Given the description of an element on the screen output the (x, y) to click on. 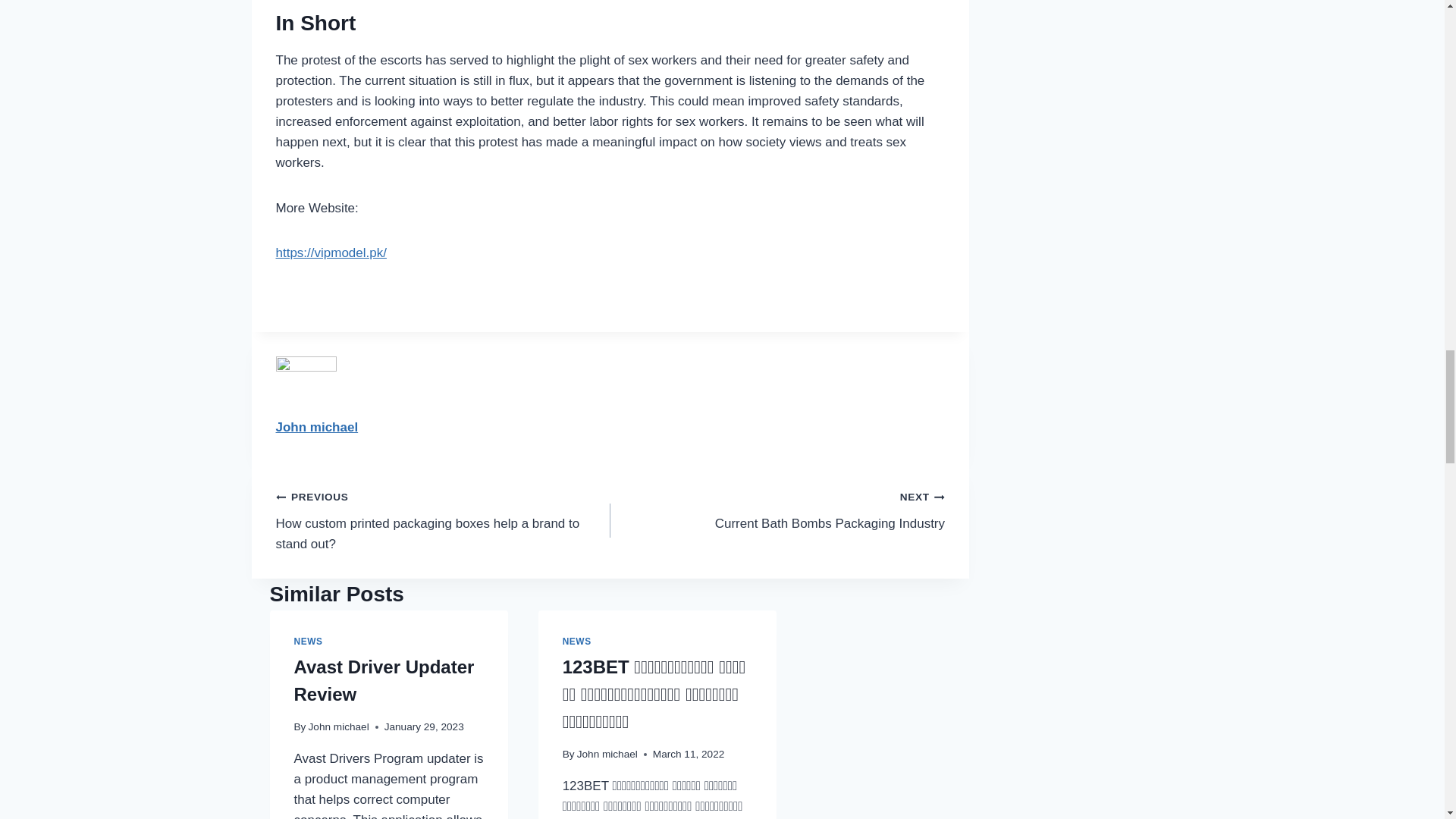
NEWS (576, 641)
Avast Driver Updater Review (384, 680)
NEWS (777, 509)
John michael (308, 641)
John michael (317, 427)
Posts by John michael (606, 754)
John michael (317, 427)
